Given the description of an element on the screen output the (x, y) to click on. 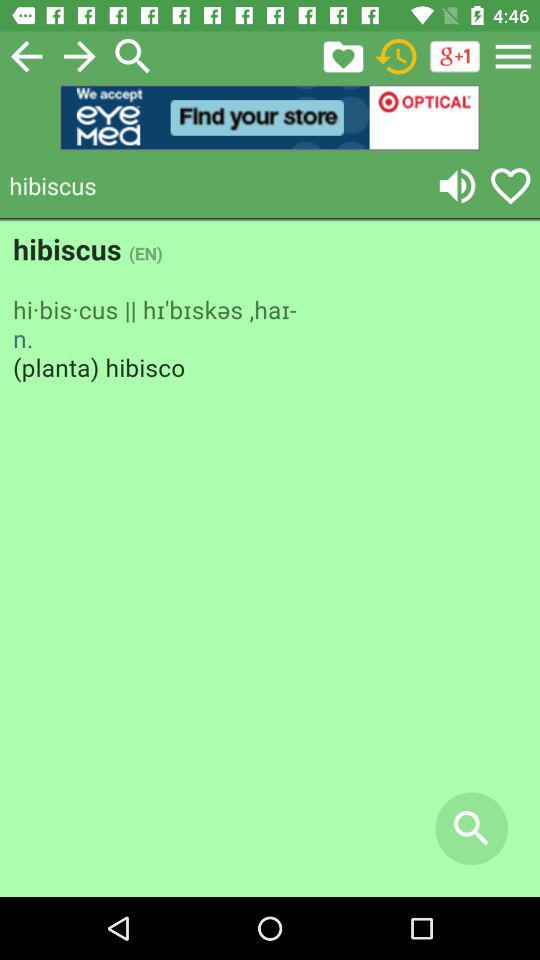
go to page (26, 56)
